Given the description of an element on the screen output the (x, y) to click on. 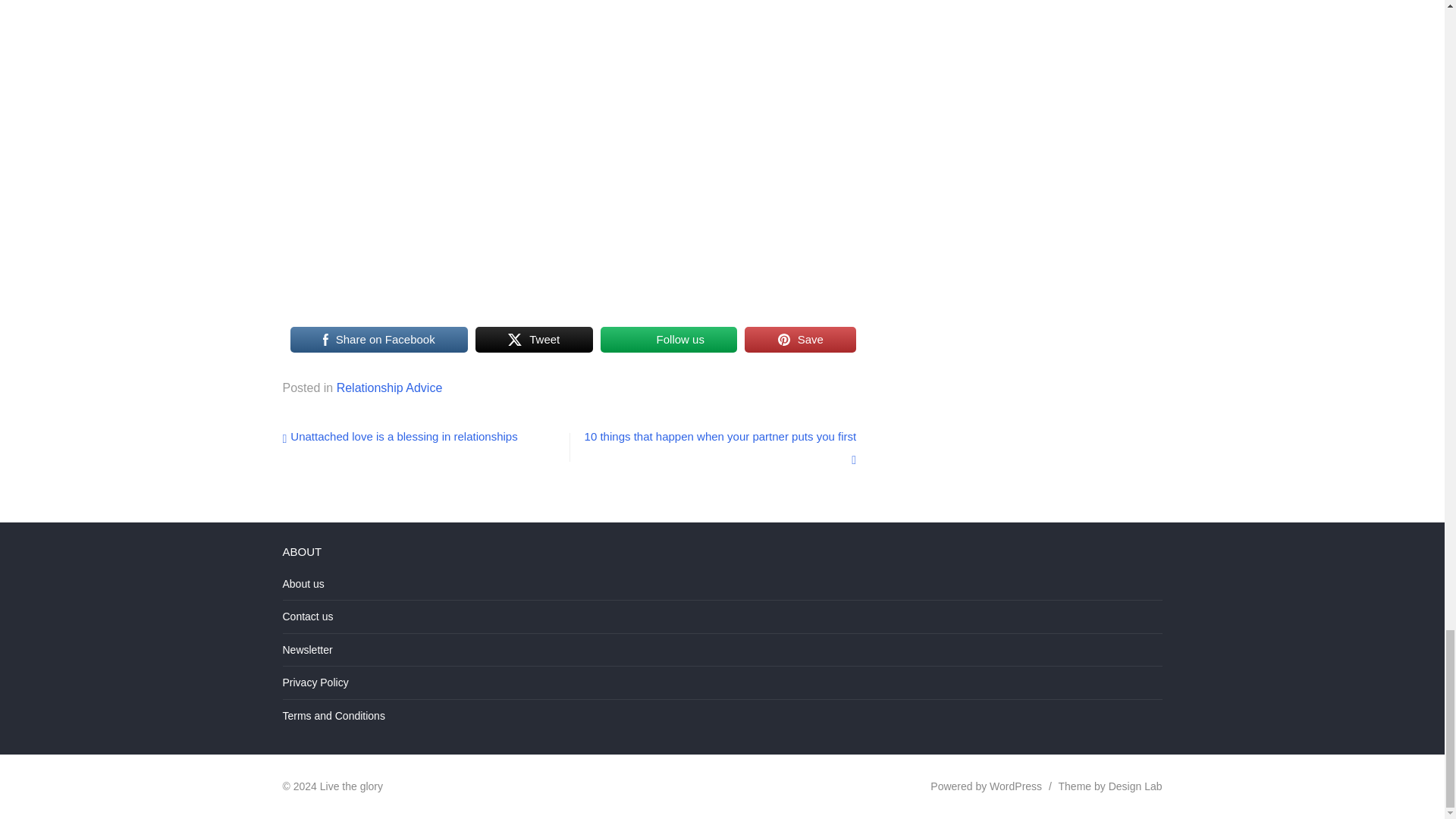
Unattached love is a blessing in relationships (399, 436)
Relationship Advice (389, 387)
Share on Facebook (378, 339)
Tweet (534, 339)
Follow us (668, 339)
Save (800, 339)
